Given the description of an element on the screen output the (x, y) to click on. 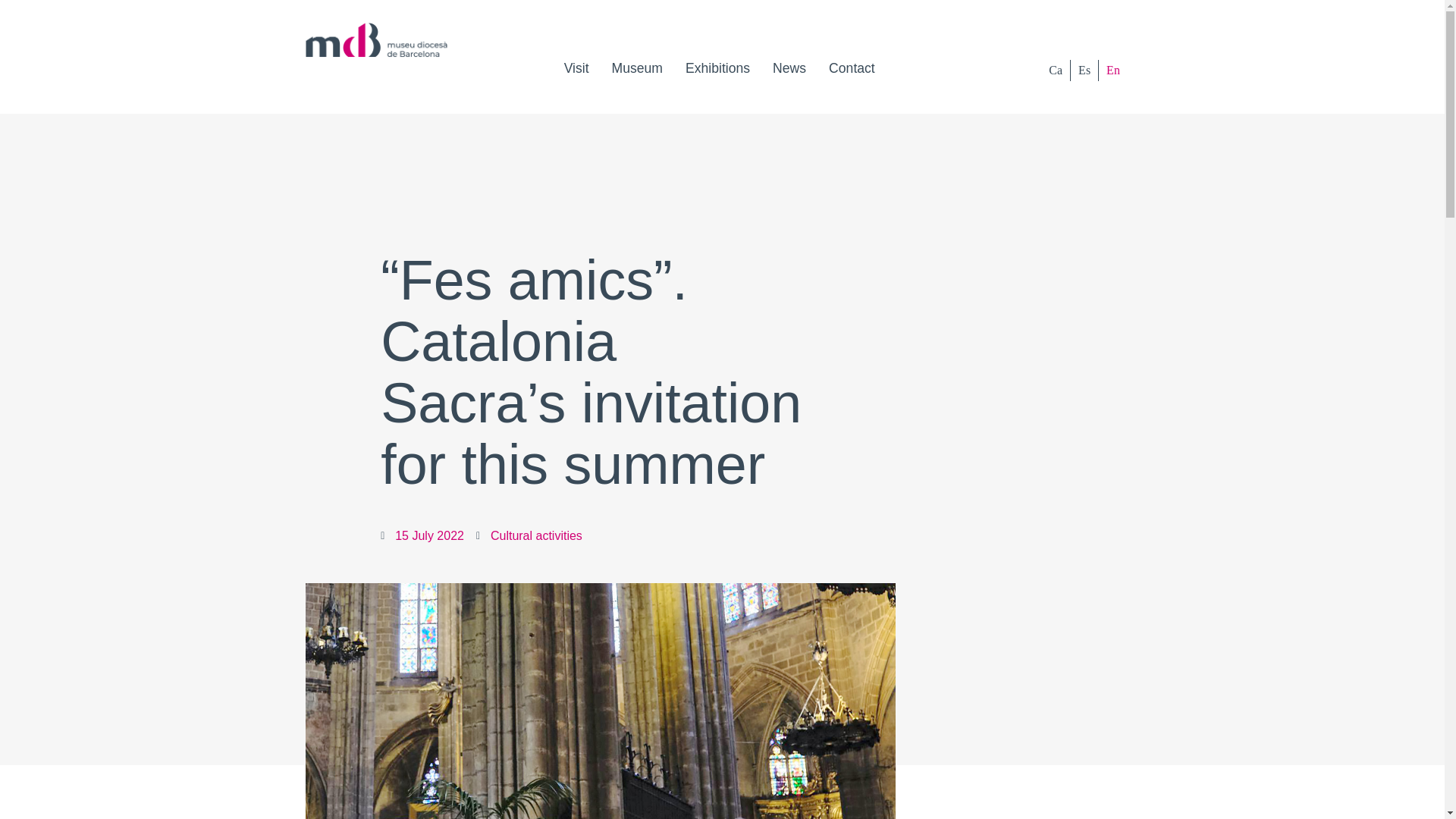
Cultural activities (536, 535)
Contact (851, 67)
En (1112, 70)
Es (1083, 70)
Museum (636, 67)
Ca (1055, 70)
Visit (576, 67)
News (788, 67)
Exhibitions (717, 67)
